Given the description of an element on the screen output the (x, y) to click on. 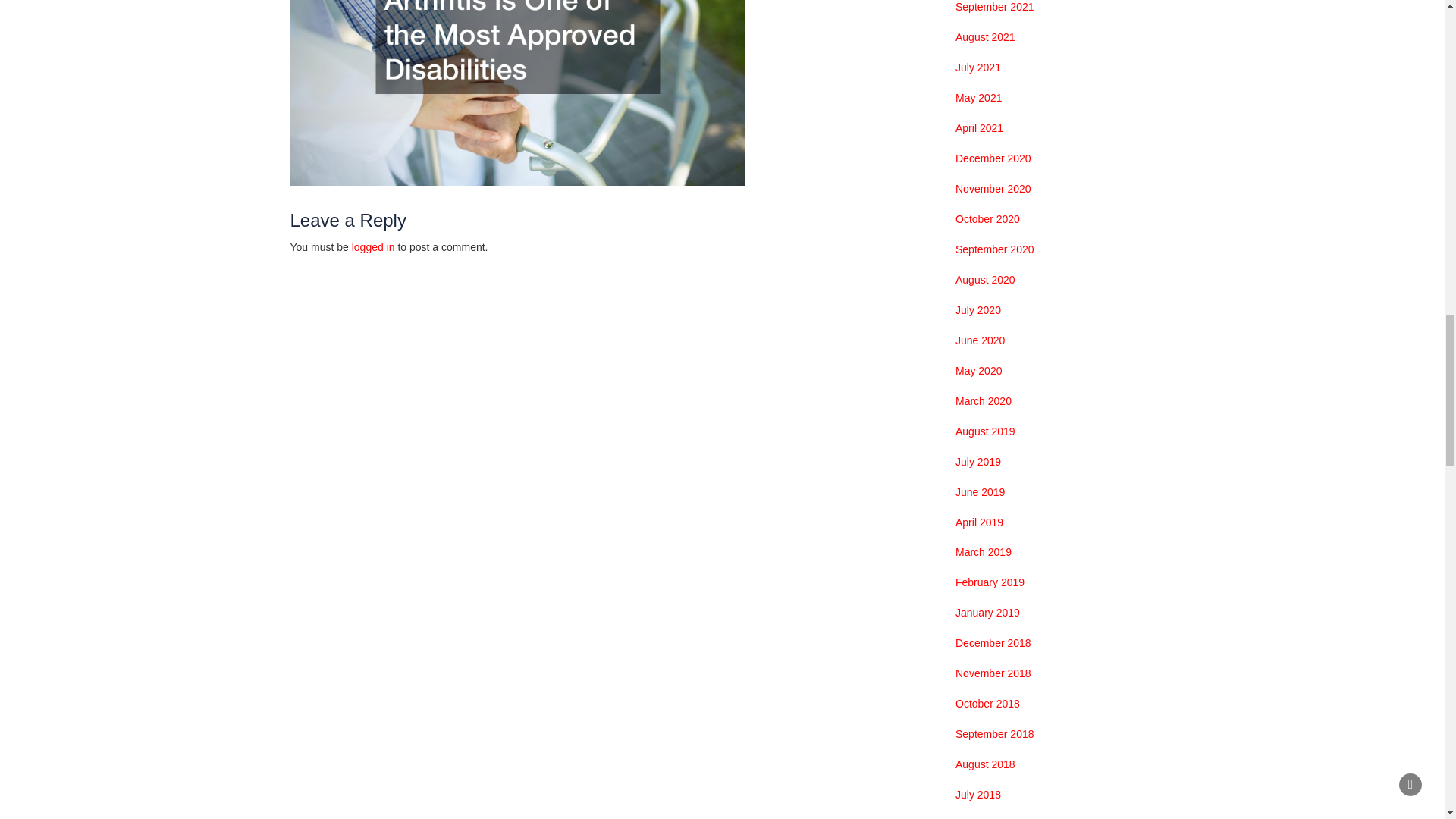
September 2021 (994, 7)
logged in (373, 246)
